Given the description of an element on the screen output the (x, y) to click on. 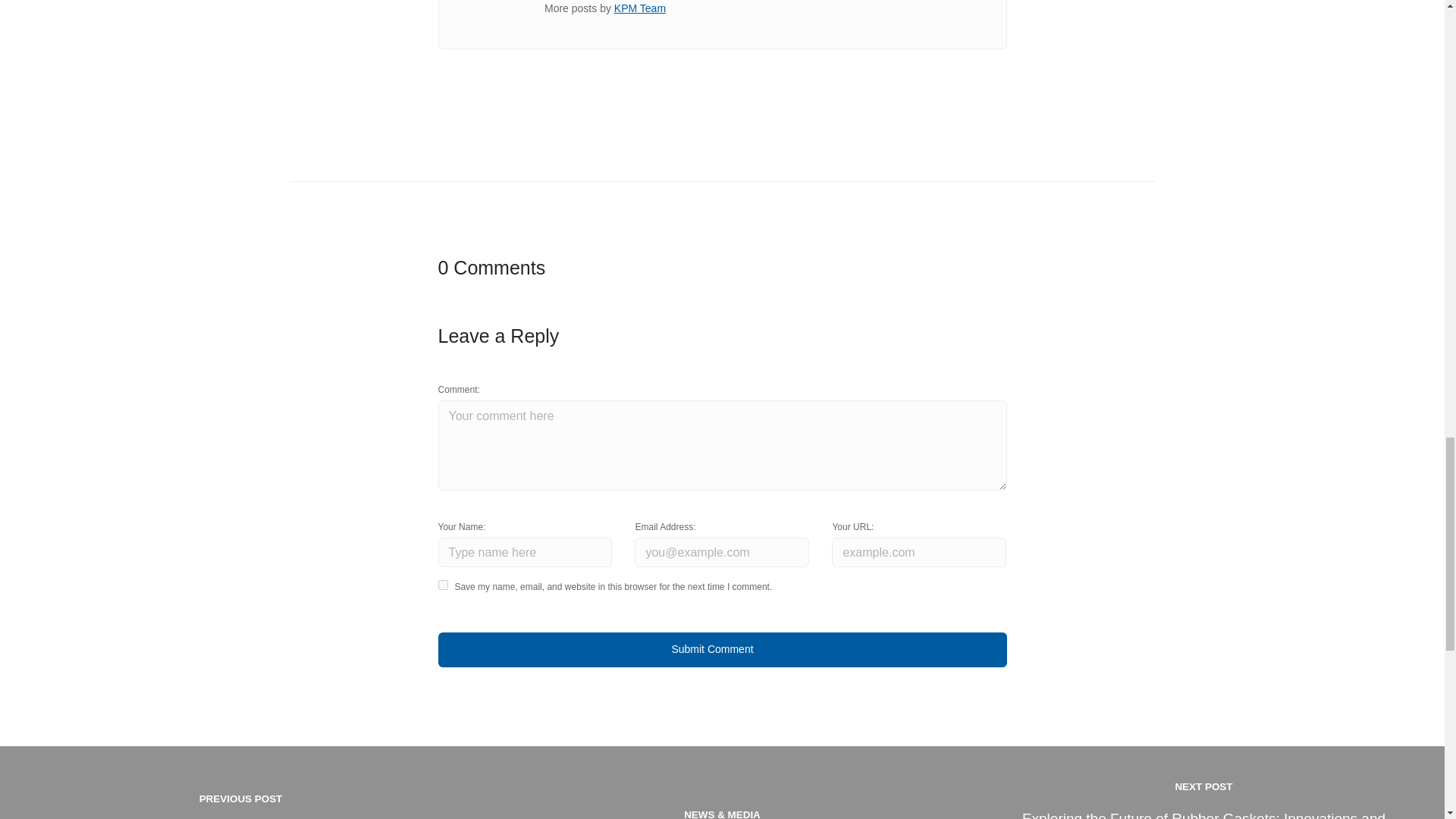
Posts by KPM Team (639, 8)
Submit Comment (722, 649)
yes (443, 584)
